Given the description of an element on the screen output the (x, y) to click on. 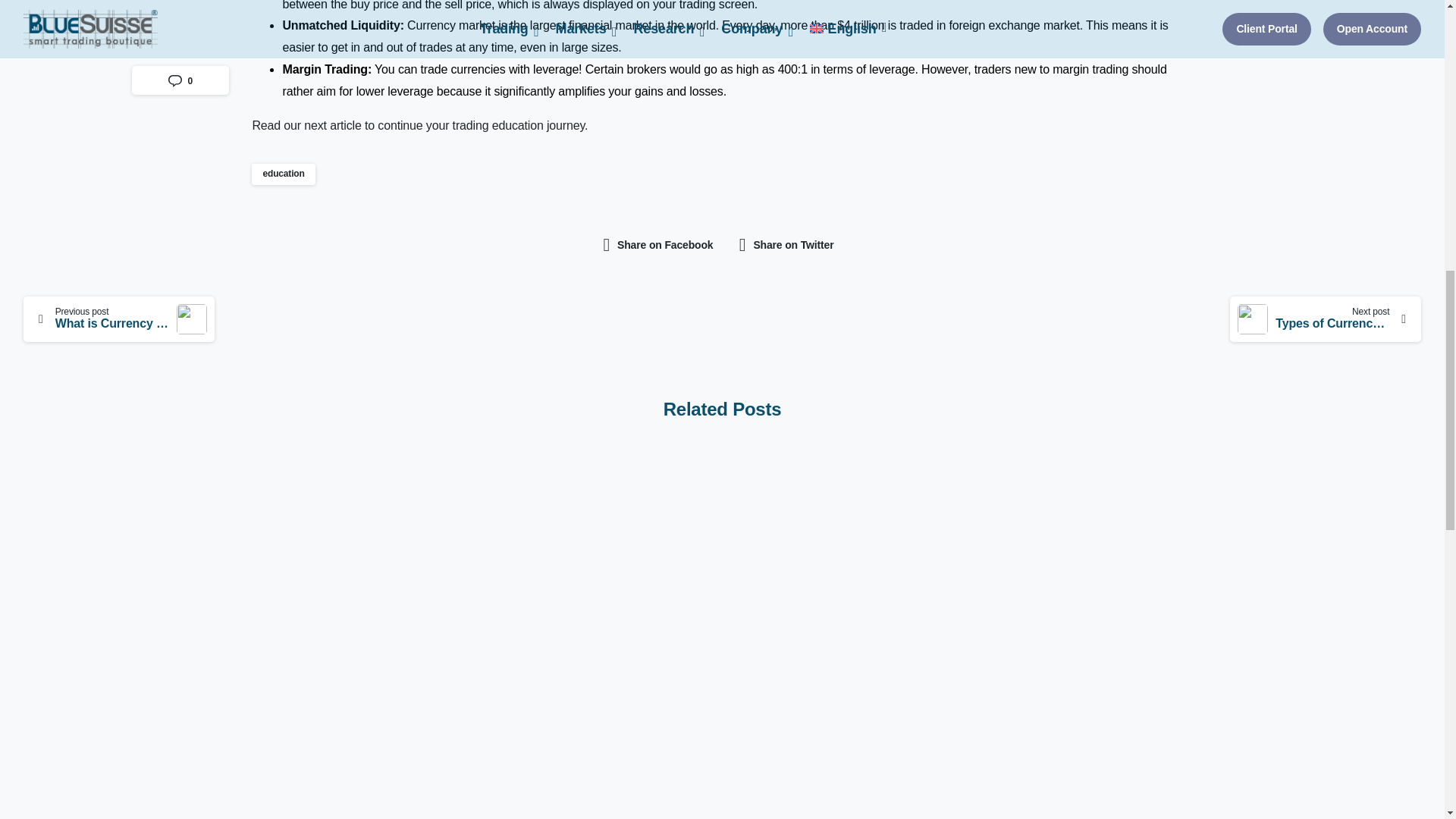
Share on Facebook (657, 245)
education (282, 174)
